Given the description of an element on the screen output the (x, y) to click on. 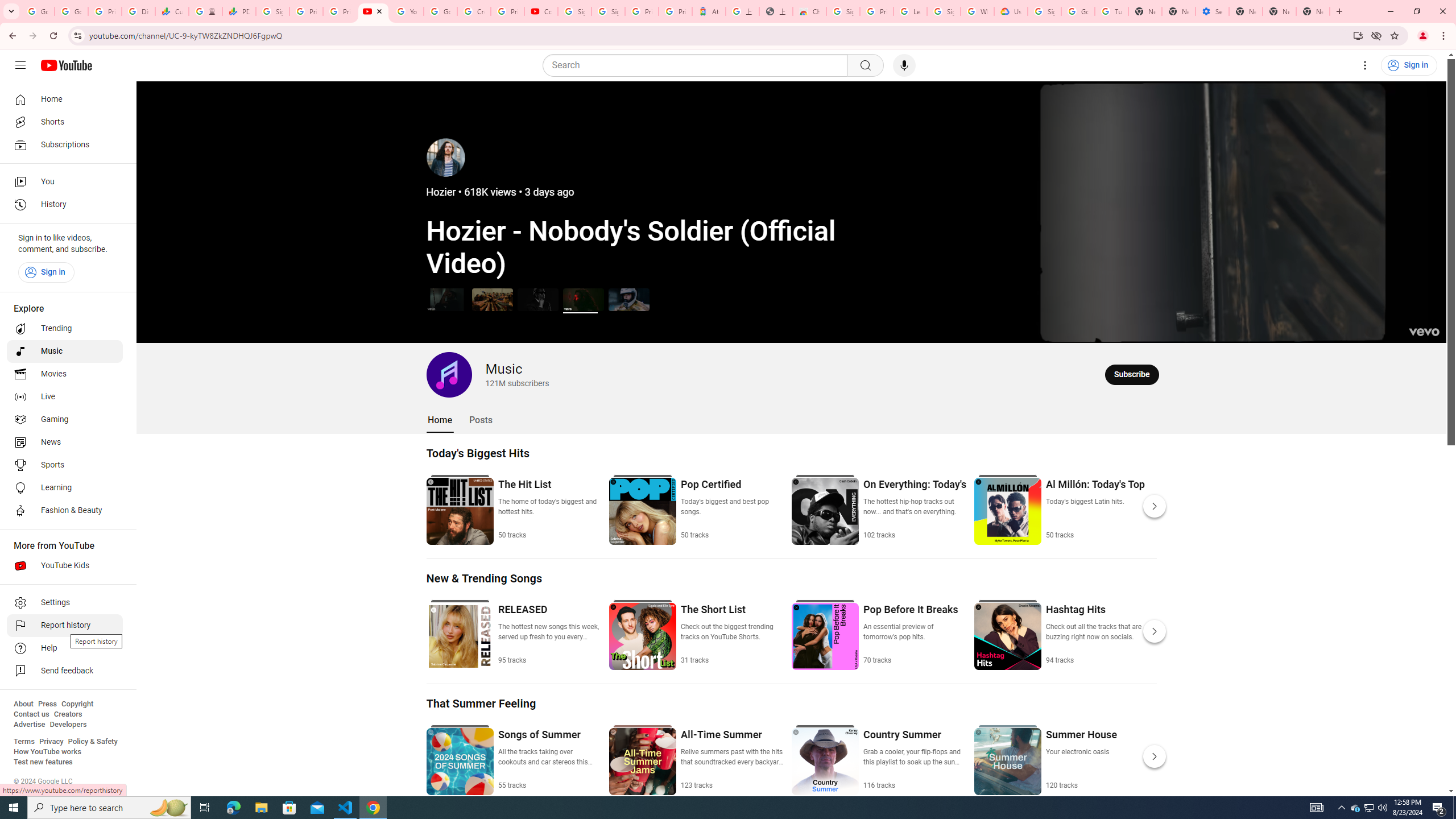
Press (46, 703)
Learning (64, 487)
YouTube Home (66, 65)
Atour Hotel - Google hotels (708, 11)
Sign in - Google Accounts (943, 11)
Sign in - Google Accounts (608, 11)
Contact us (31, 714)
Live (64, 396)
Subscribe to Music. (1131, 374)
Google Account Help (1077, 11)
Advertise (29, 724)
